Given the description of an element on the screen output the (x, y) to click on. 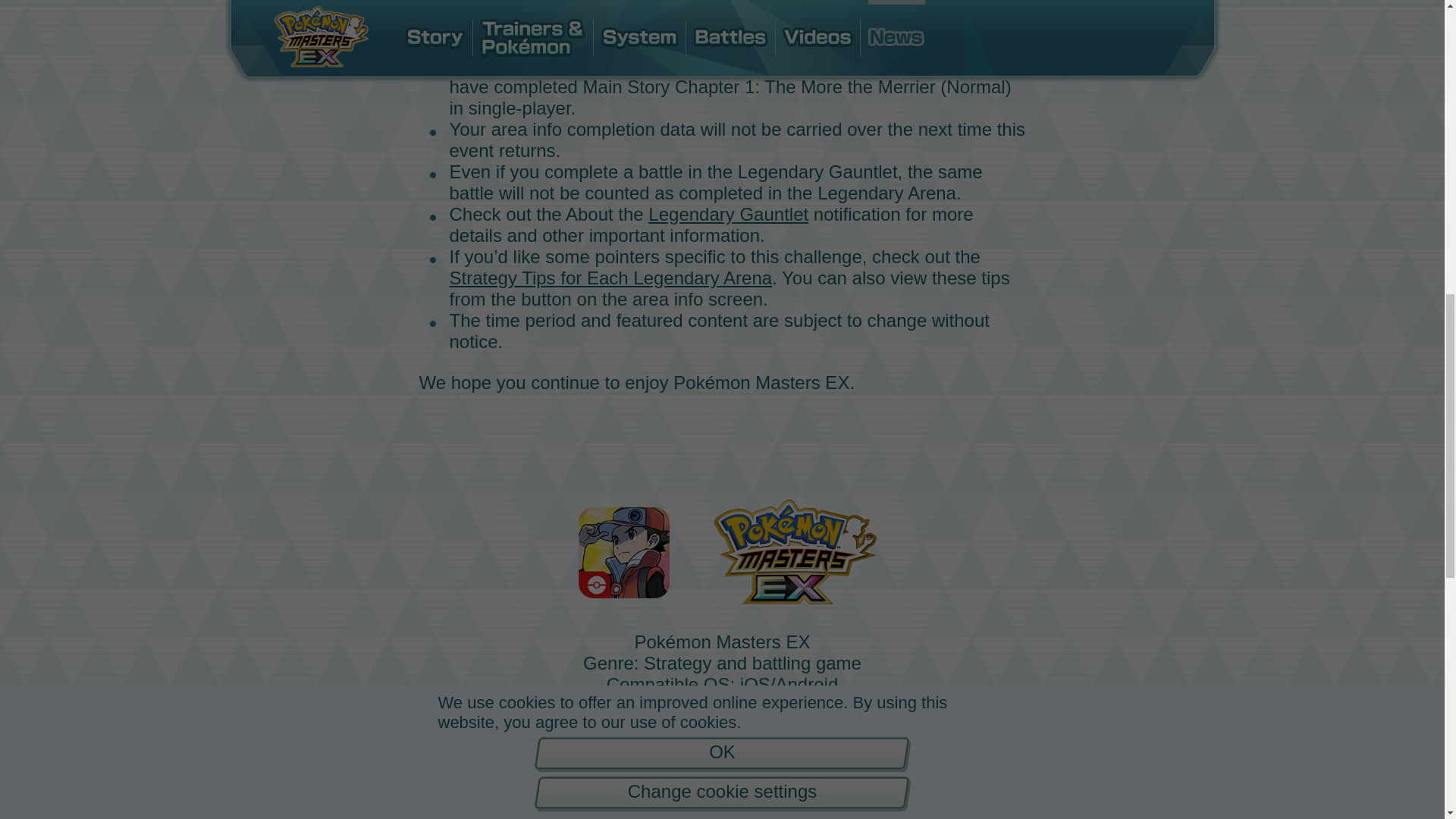
About the Legendary Gauntlet (687, 213)
Strategy Tips for Each Legendary Arena (609, 277)
